Given the description of an element on the screen output the (x, y) to click on. 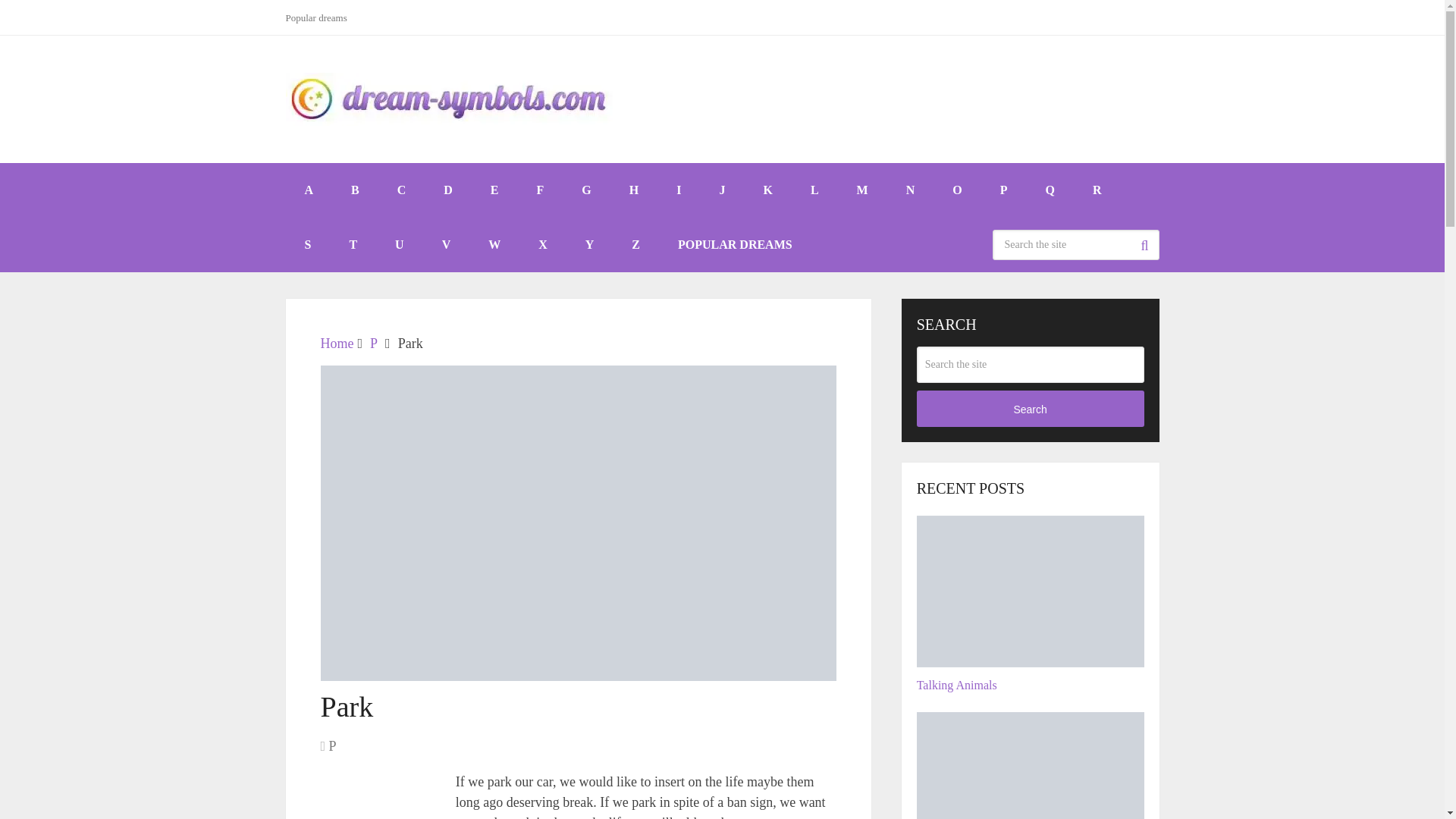
W (493, 244)
Talking Animals (1030, 603)
park (376, 797)
Search (1143, 245)
Taser (1030, 765)
Talking Animals (1030, 591)
POPULAR DREAMS (734, 244)
M (862, 189)
Home (336, 343)
Popular dreams (321, 17)
